Given the description of an element on the screen output the (x, y) to click on. 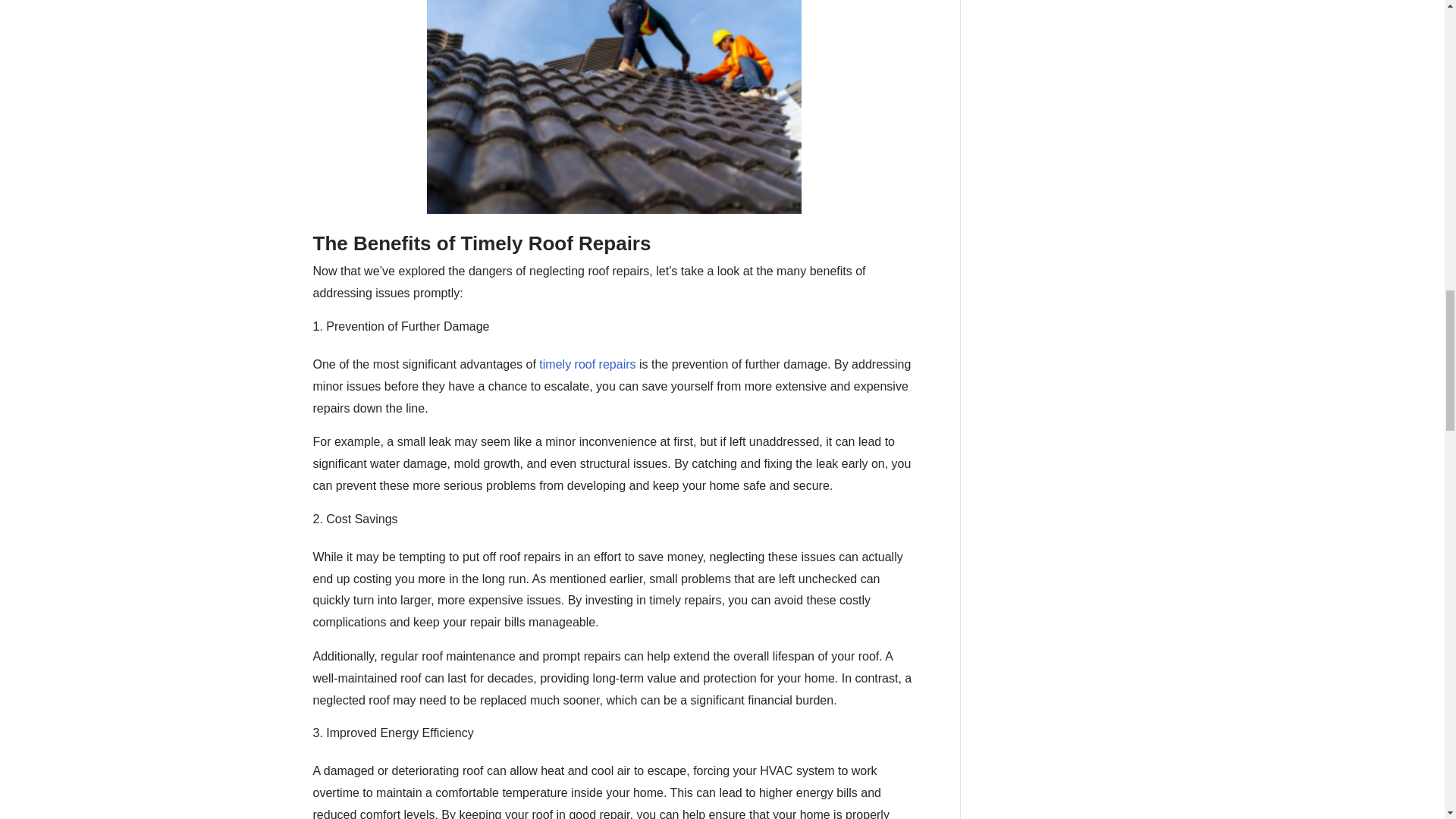
timely roof repairs (585, 364)
